Given the description of an element on the screen output the (x, y) to click on. 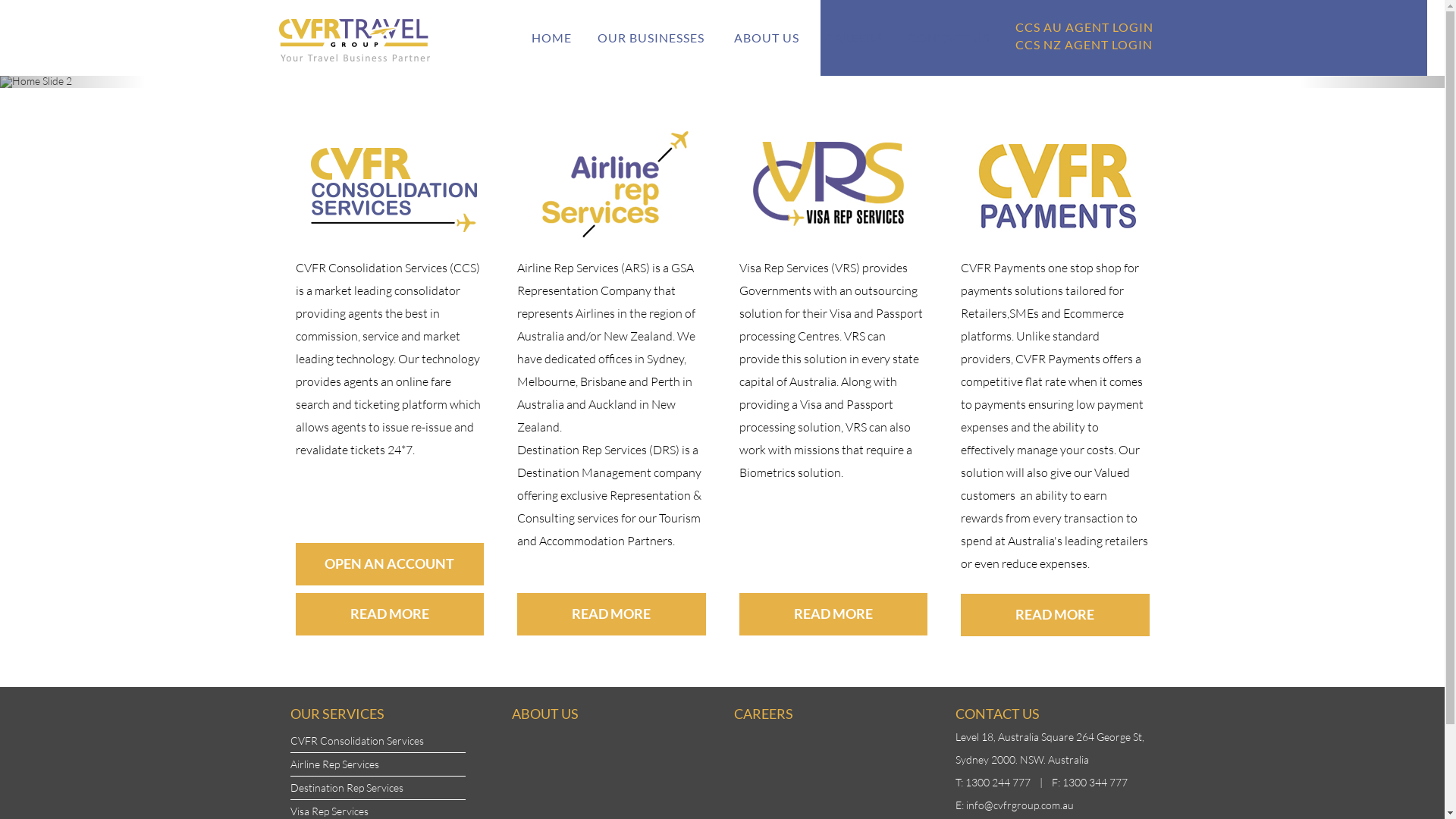
info@cvfrgroup.com.au Element type: text (1019, 804)
OUR BUSINESSES Element type: text (651, 37)
Destination Rep Services Element type: text (345, 787)
Previous Element type: text (72, 81)
ABOUT US Element type: text (544, 713)
READ MORE Element type: text (389, 614)
CVFR Consolidation Services Element type: text (356, 740)
CONTACT US Element type: text (997, 713)
OPEN AN ACCOUNT Element type: text (389, 563)
Visa Rep Services Element type: text (328, 810)
READ MORE Element type: text (832, 614)
Airline Rep Services Element type: text (333, 763)
1300 244 777 Element type: text (997, 781)
READ MORE Element type: text (611, 614)
CCS AU AGENT LOGIN Element type: text (1084, 26)
Next Element type: text (1371, 81)
HOME Element type: text (551, 37)
CCS NZ AGENT LOGIN Element type: text (1083, 44)
ABOUT US Element type: text (765, 37)
CAREERS Element type: text (852, 37)
READ MORE Element type: text (1054, 614)
OUR SERVICES Element type: text (336, 713)
CAREERS Element type: text (763, 713)
CONTACT US Element type: text (948, 37)
